Given the description of an element on the screen output the (x, y) to click on. 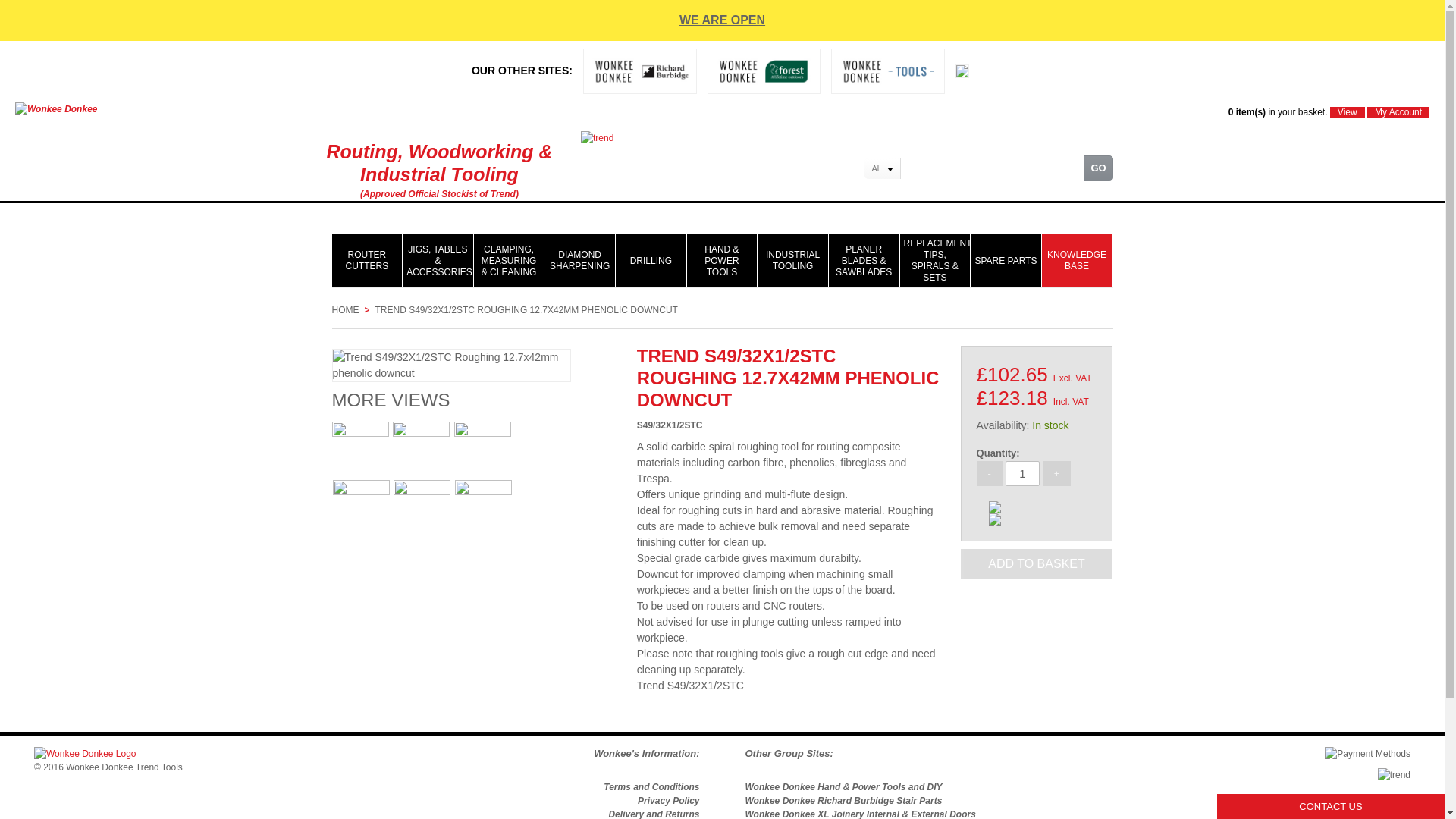
Delivery and Returns (653, 814)
ADD TO BASKET (1036, 563)
Wonkee Donkee Tools - Quality tools at low prices (843, 787)
1 (1022, 473)
Terms and Conditions (651, 787)
KNOWLEDGE BASE (1077, 260)
HOME (345, 309)
Qty (1022, 473)
